Given the description of an element on the screen output the (x, y) to click on. 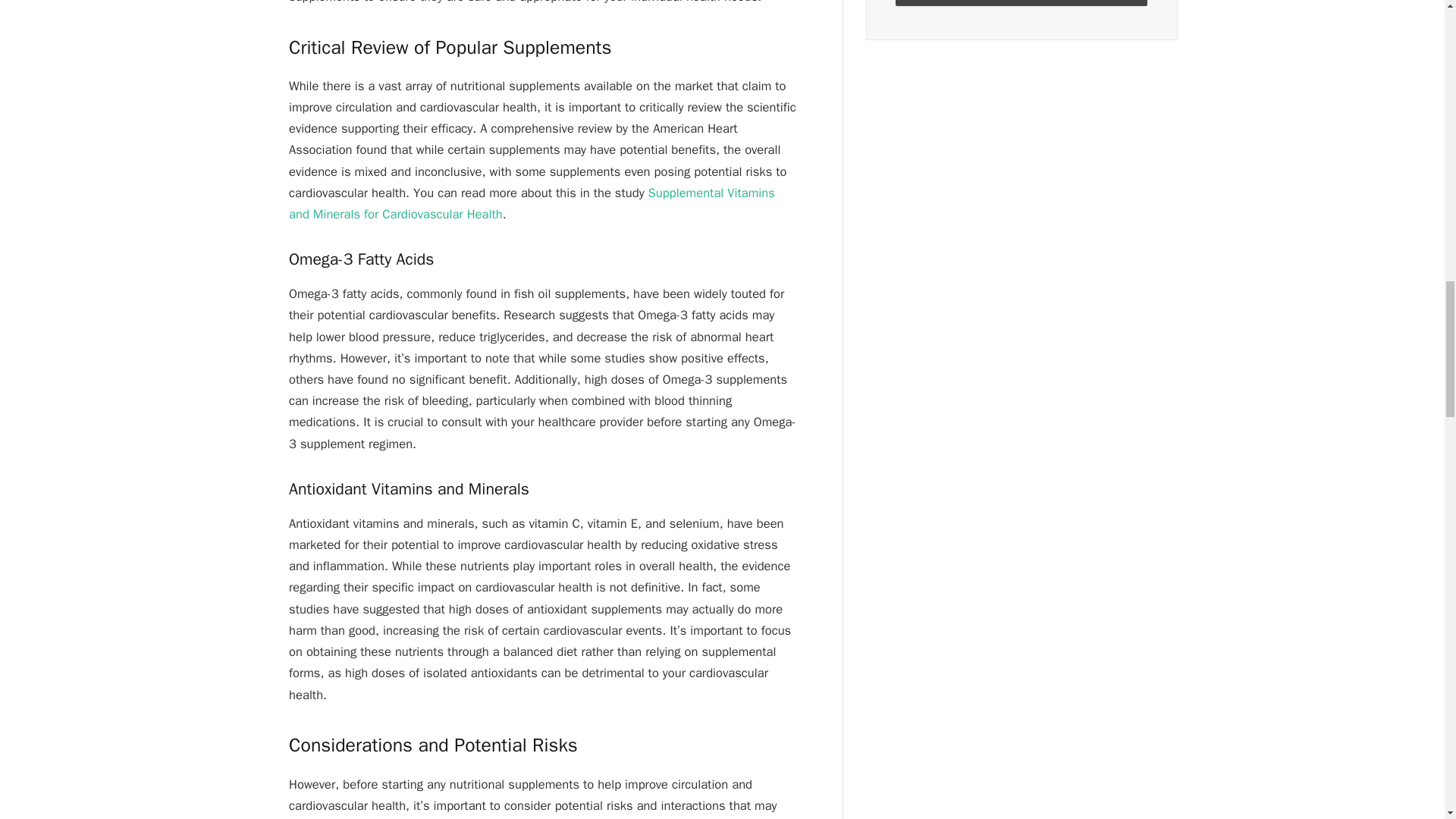
Subscribe (1021, 2)
